Given the description of an element on the screen output the (x, y) to click on. 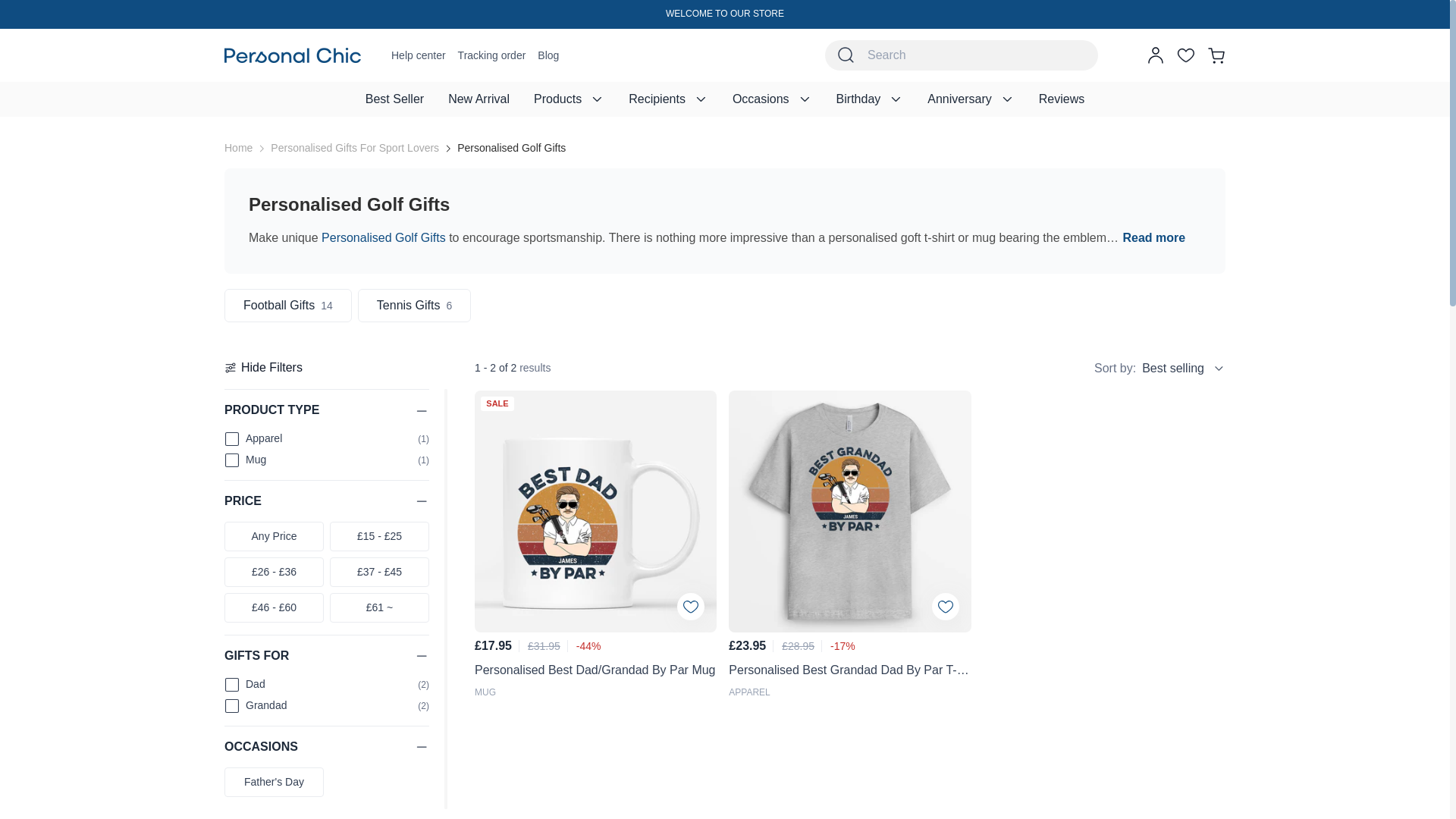
New Arrivals (478, 99)
account (1155, 54)
Personal Chic (292, 55)
Blog (548, 55)
Bestsellers (394, 99)
New Arrival (478, 99)
Products (568, 99)
Products (568, 99)
cart (1216, 54)
Recipients (667, 99)
